Given the description of an element on the screen output the (x, y) to click on. 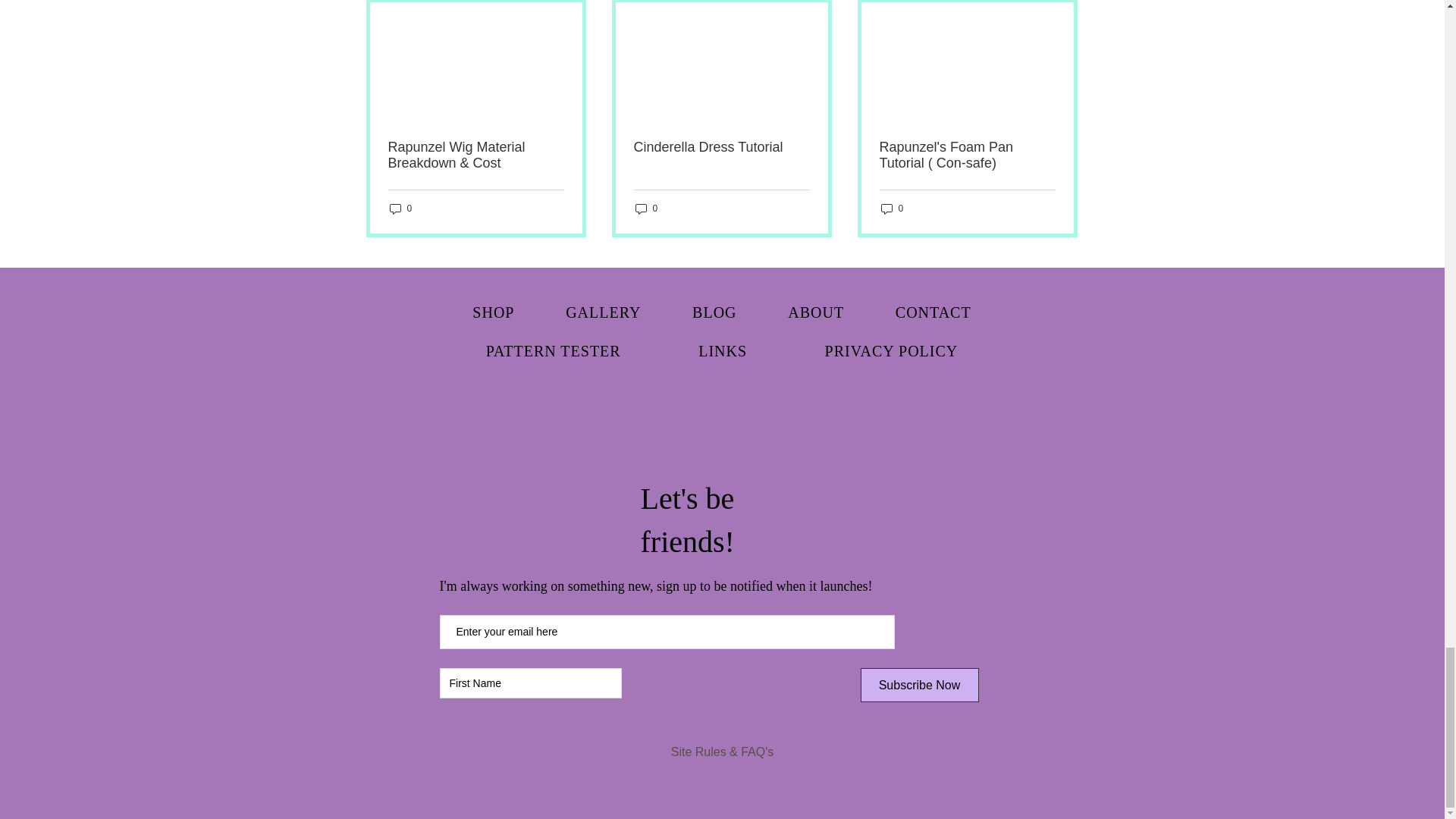
0 (646, 208)
ABOUT (815, 312)
0 (400, 208)
GALLERY (603, 312)
Cinderella Dress Tutorial (721, 147)
0 (892, 208)
PATTERN TESTER (552, 350)
CONTACT (933, 312)
BLOG (713, 312)
LINKS (722, 350)
